Given the description of an element on the screen output the (x, y) to click on. 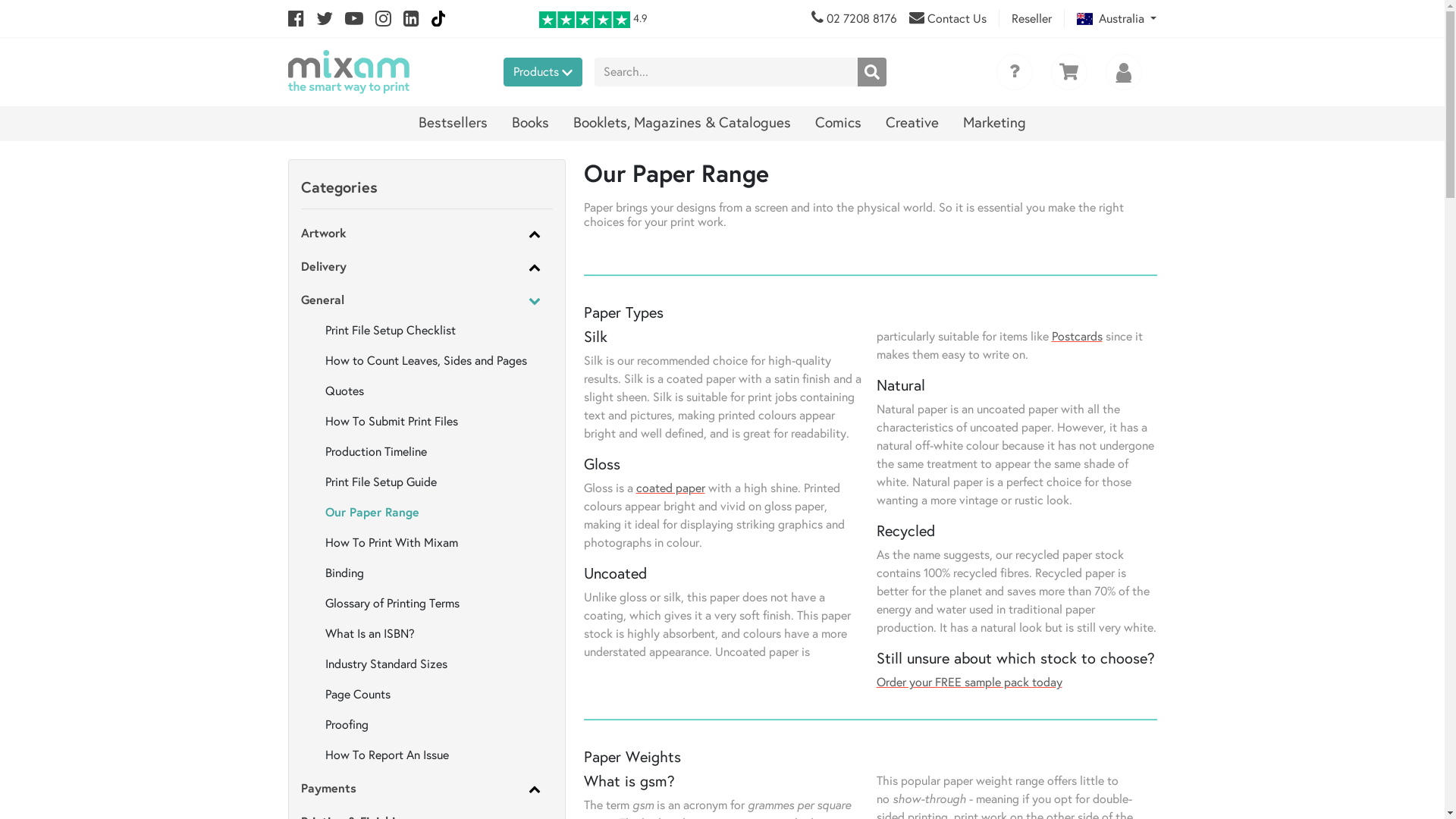
How To Submit Print Files Element type: text (390, 421)
How to Count Leaves, Sides and Pages Element type: text (425, 360)
Products Element type: text (542, 71)
Print File Setup Checklist Element type: text (389, 330)
Postcards Element type: text (1076, 336)
Order your FREE sample pack today Element type: text (969, 681)
Payments Element type: text (327, 788)
How To Report An Issue Element type: text (386, 754)
Industry Standard Sizes Element type: text (385, 663)
Delivery Element type: text (322, 266)
Contact Us Element type: text (956, 18)
Our Paper Range Element type: text (371, 511)
Quotes Element type: text (343, 390)
Glossary of Printing Terms Element type: text (391, 603)
Australia Element type: text (1116, 18)
02 7208 8176 Element type: text (861, 18)
Print File Setup Guide Element type: text (380, 481)
What Is an ISBN? Element type: text (369, 633)
Binding Element type: text (343, 572)
My Account Element type: hover (1123, 71)
Production Timeline Element type: text (375, 451)
General Element type: text (321, 300)
Page Counts Element type: text (356, 694)
4.9 Element type: text (592, 18)
Cart Element type: hover (1069, 71)
Reseller Element type: text (1031, 18)
Proofing Element type: text (345, 724)
coated paper Element type: text (669, 487)
How To Print With Mixam Element type: text (390, 542)
Artwork Element type: text (322, 233)
